Given the description of an element on the screen output the (x, y) to click on. 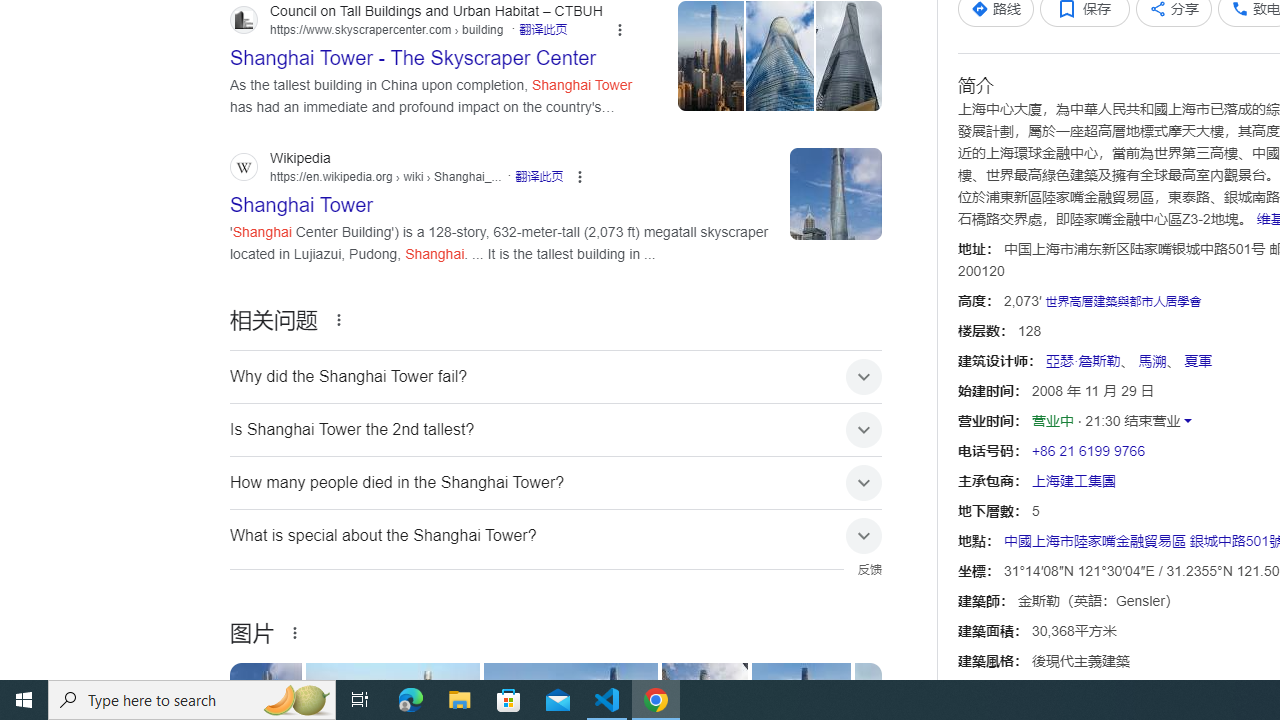
How many people died in the Shanghai Tower? (555, 482)
Why did the Shanghai Tower fail? (555, 376)
Is Shanghai Tower the 2nd tallest? (555, 429)
